Given the description of an element on the screen output the (x, y) to click on. 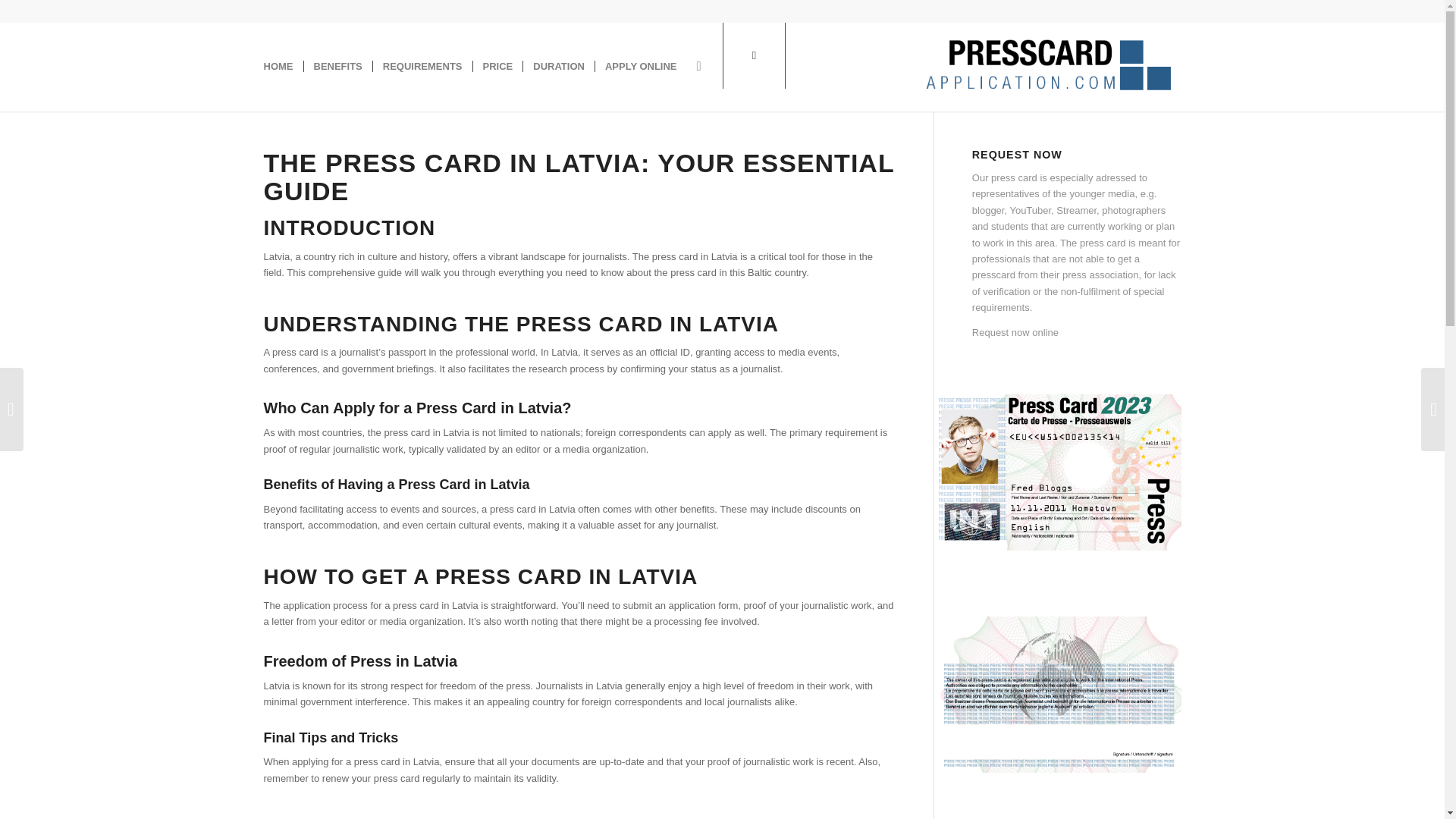
APPLY ONLINE (640, 66)
Request now online (1015, 332)
REQUIREMENTS (421, 66)
